Given the description of an element on the screen output the (x, y) to click on. 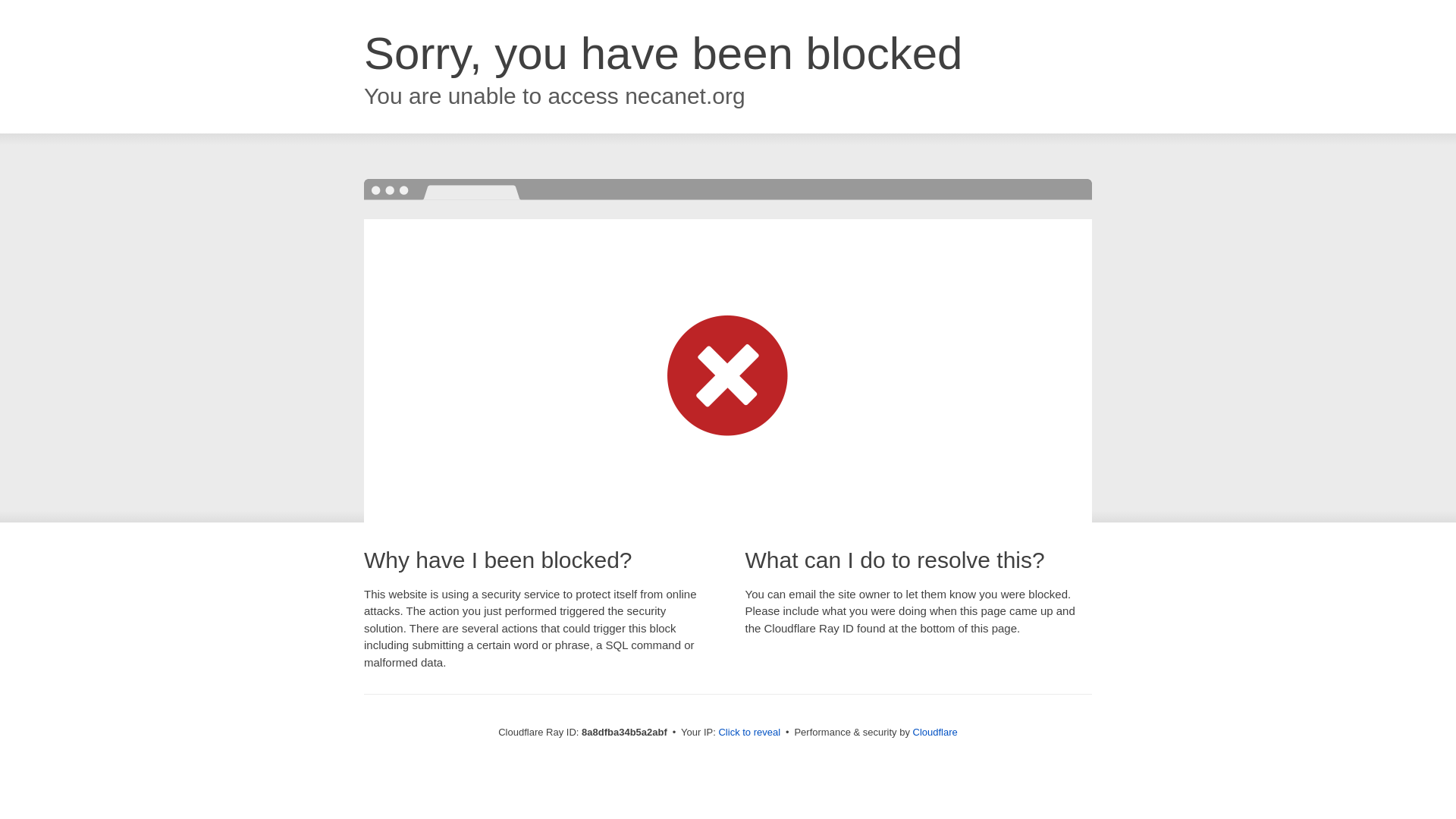
Cloudflare (935, 731)
Click to reveal (748, 732)
